Given the description of an element on the screen output the (x, y) to click on. 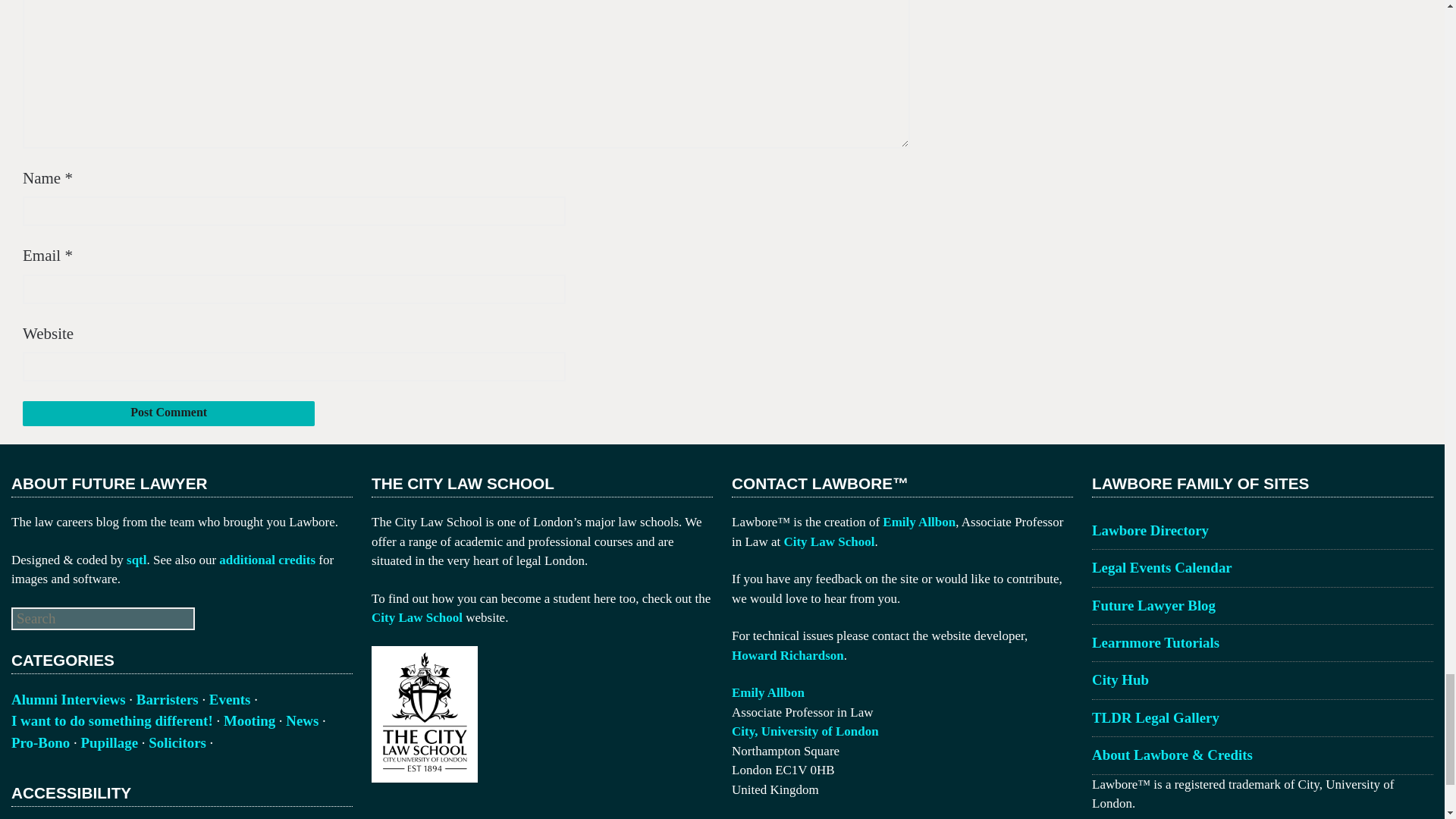
Post Comment (168, 413)
Post Comment (168, 413)
sqtl (136, 559)
